Given the description of an element on the screen output the (x, y) to click on. 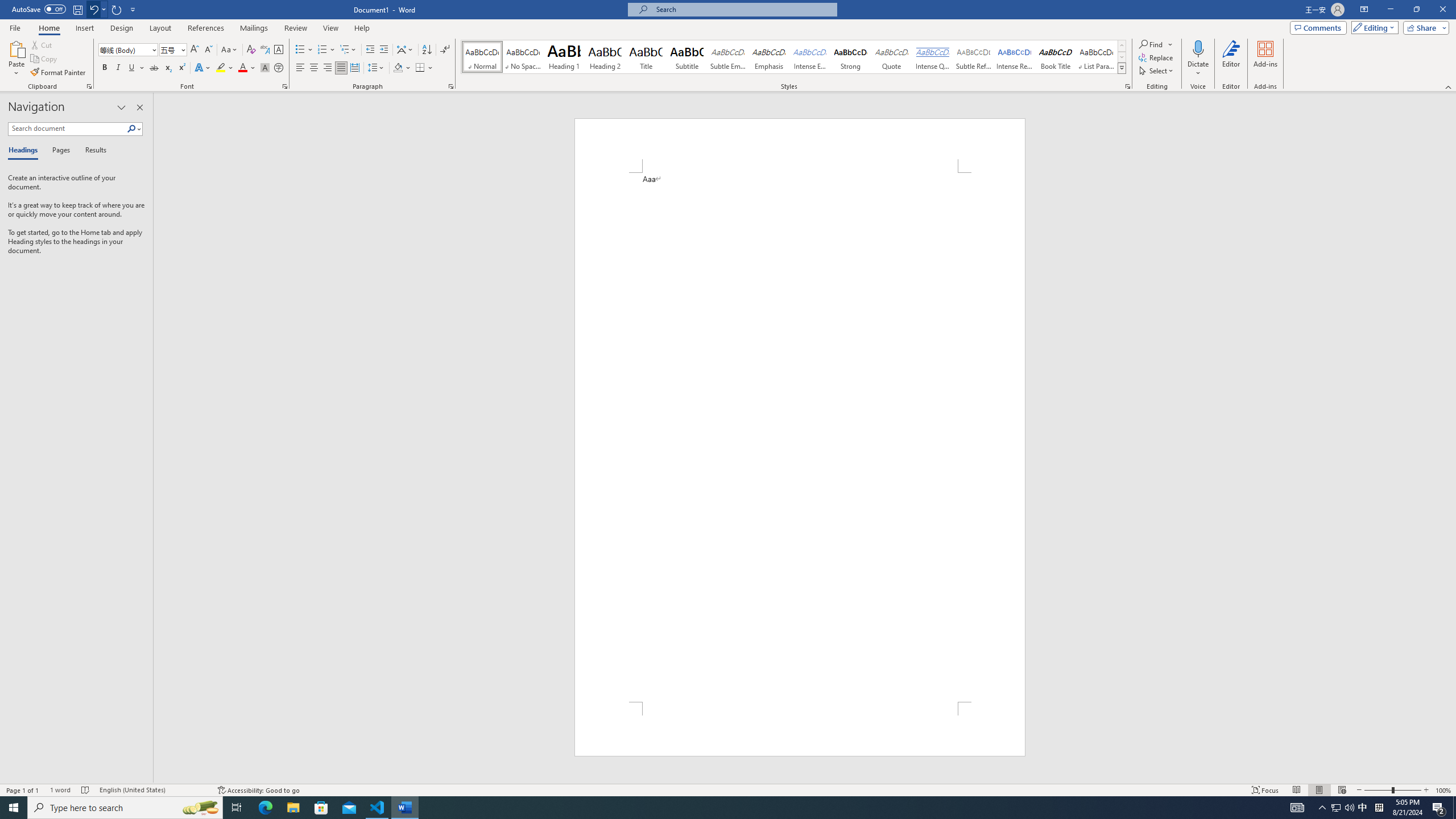
Intense Reference (1014, 56)
